Given the description of an element on the screen output the (x, y) to click on. 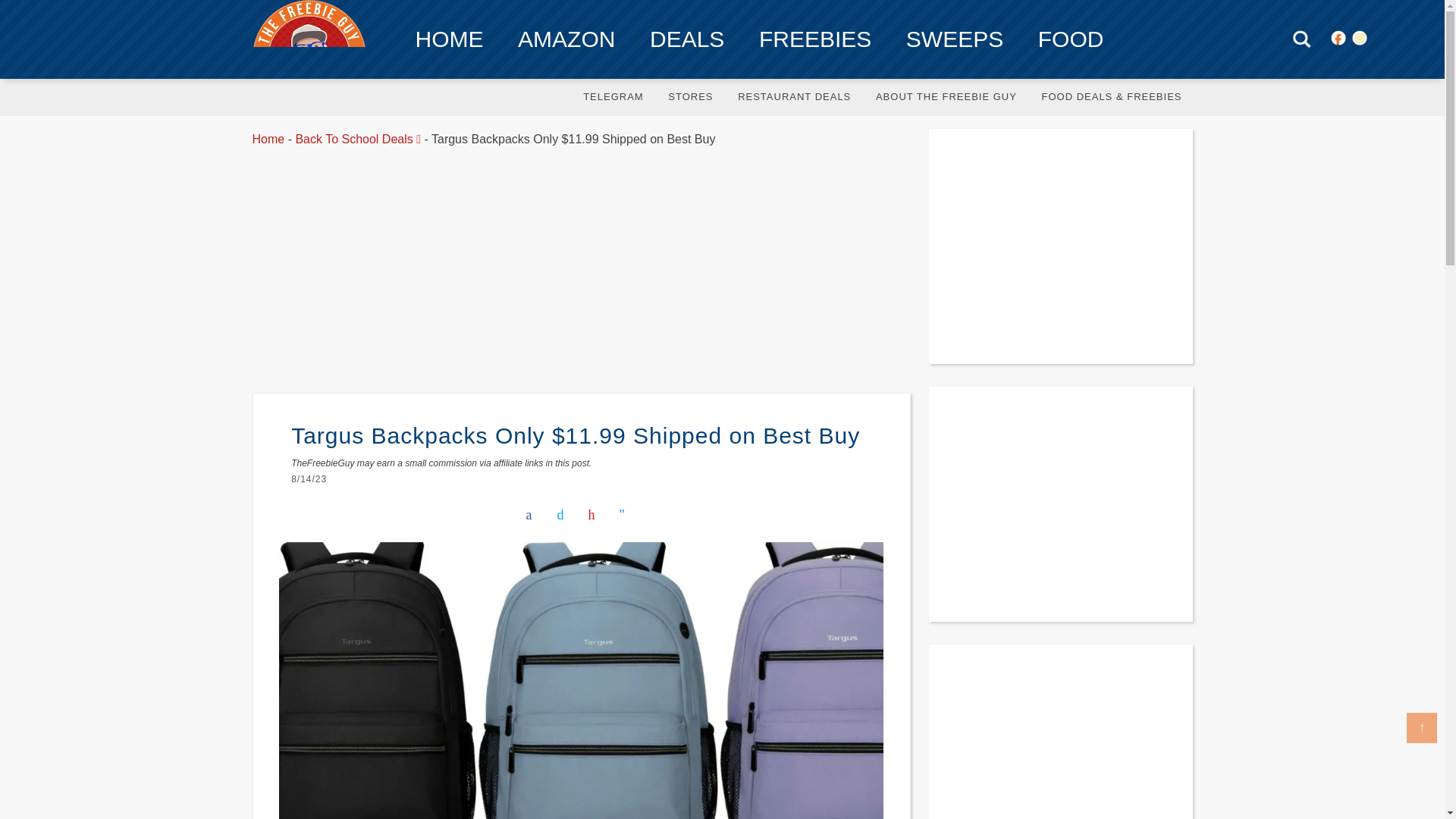
HOME (449, 39)
Rechercher (1300, 38)
AMAZON (566, 39)
DEALS (686, 39)
